Given the description of an element on the screen output the (x, y) to click on. 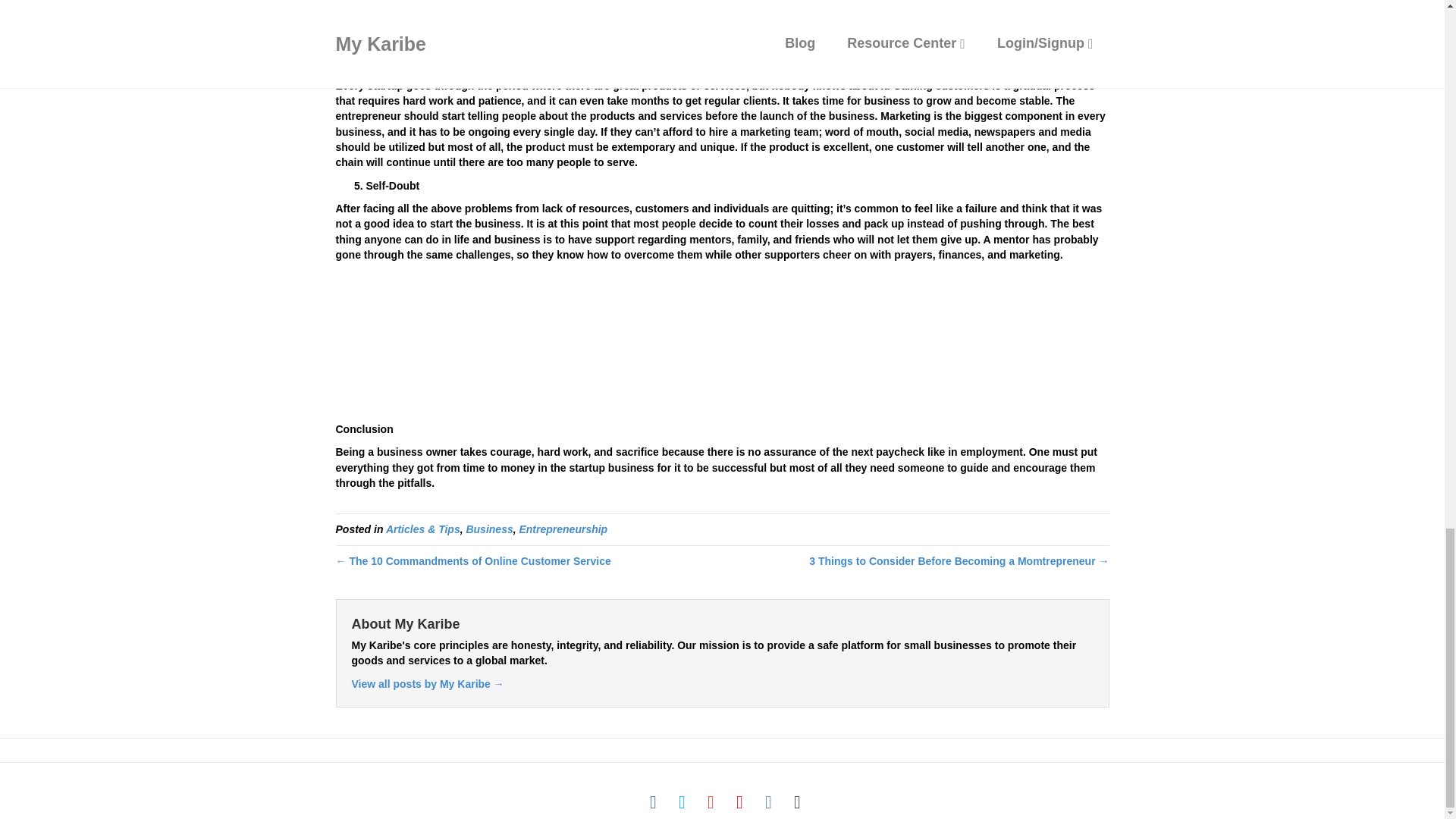
Email (797, 802)
Twitter (681, 802)
Advertisement (721, 27)
Entrepreneurship (562, 529)
Facebook (652, 802)
Google (710, 802)
Business (488, 529)
Youtube (739, 802)
Instagram (767, 802)
Advertisement (721, 345)
